Given the description of an element on the screen output the (x, y) to click on. 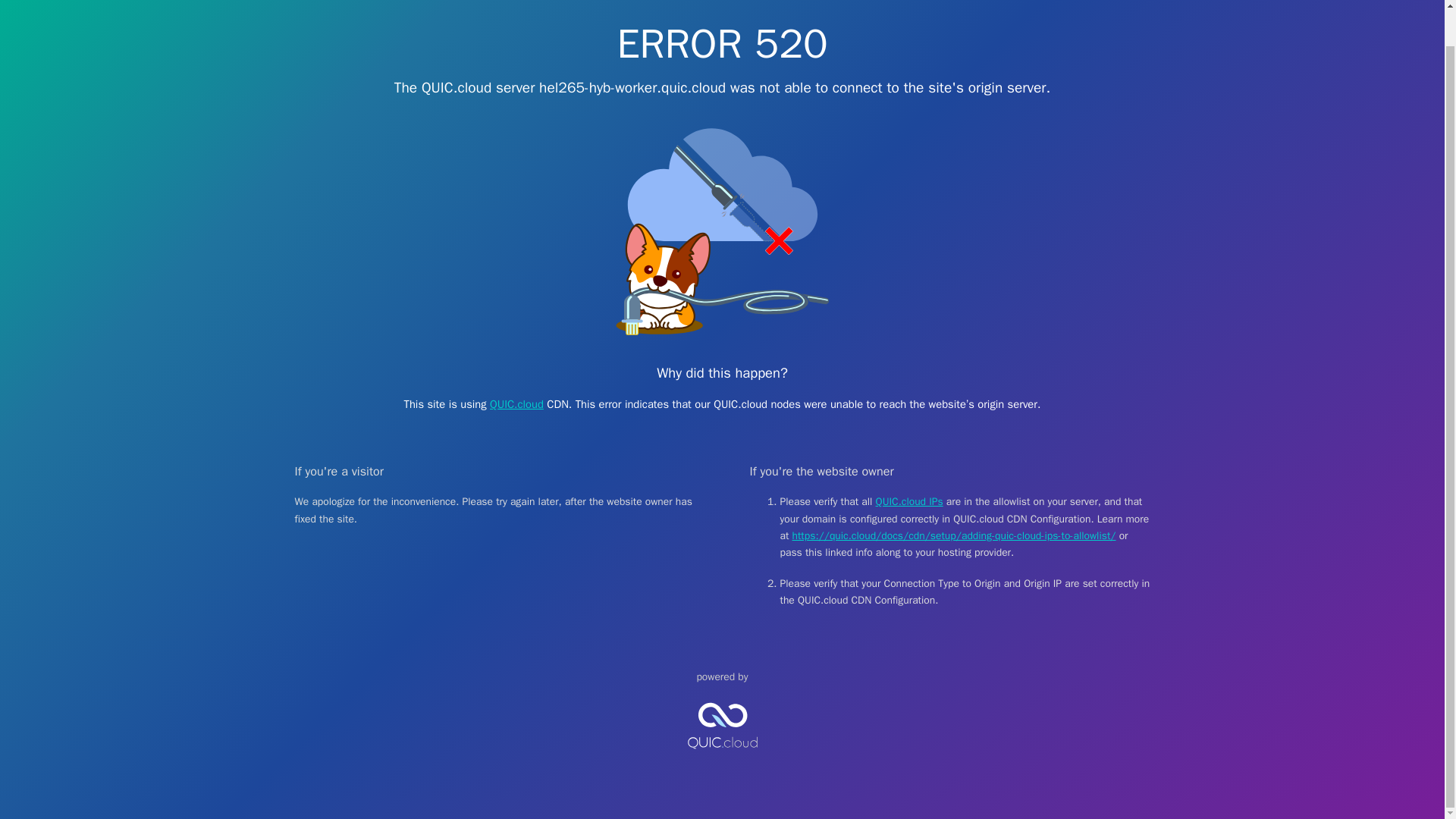
QUIC.cloud (516, 404)
QUIC.cloud (721, 761)
QUIC.cloud IPs (909, 501)
